Given the description of an element on the screen output the (x, y) to click on. 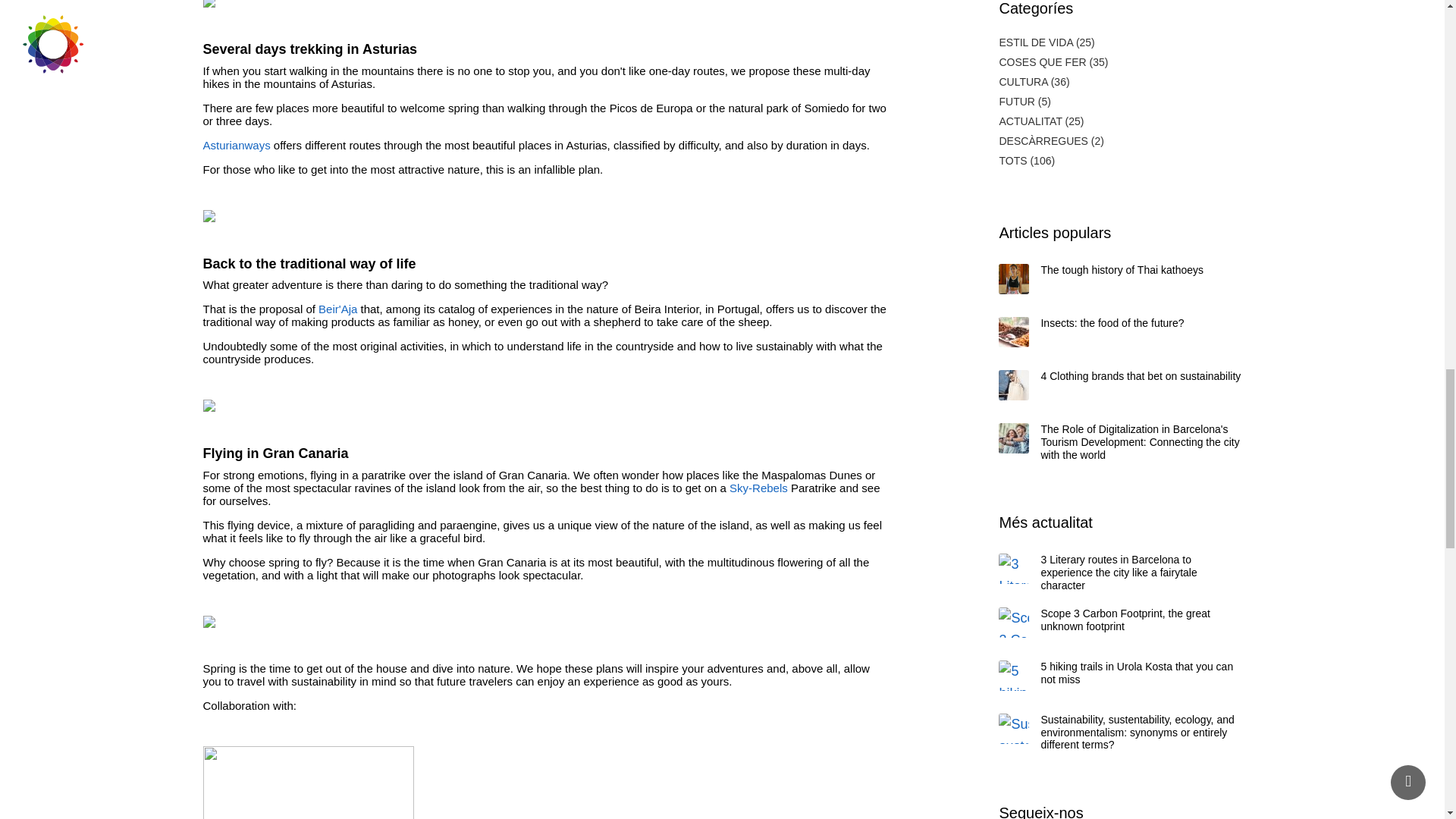
Beir'Aja (337, 308)
Asturianways (236, 144)
Sky-Rebels (758, 487)
